Given the description of an element on the screen output the (x, y) to click on. 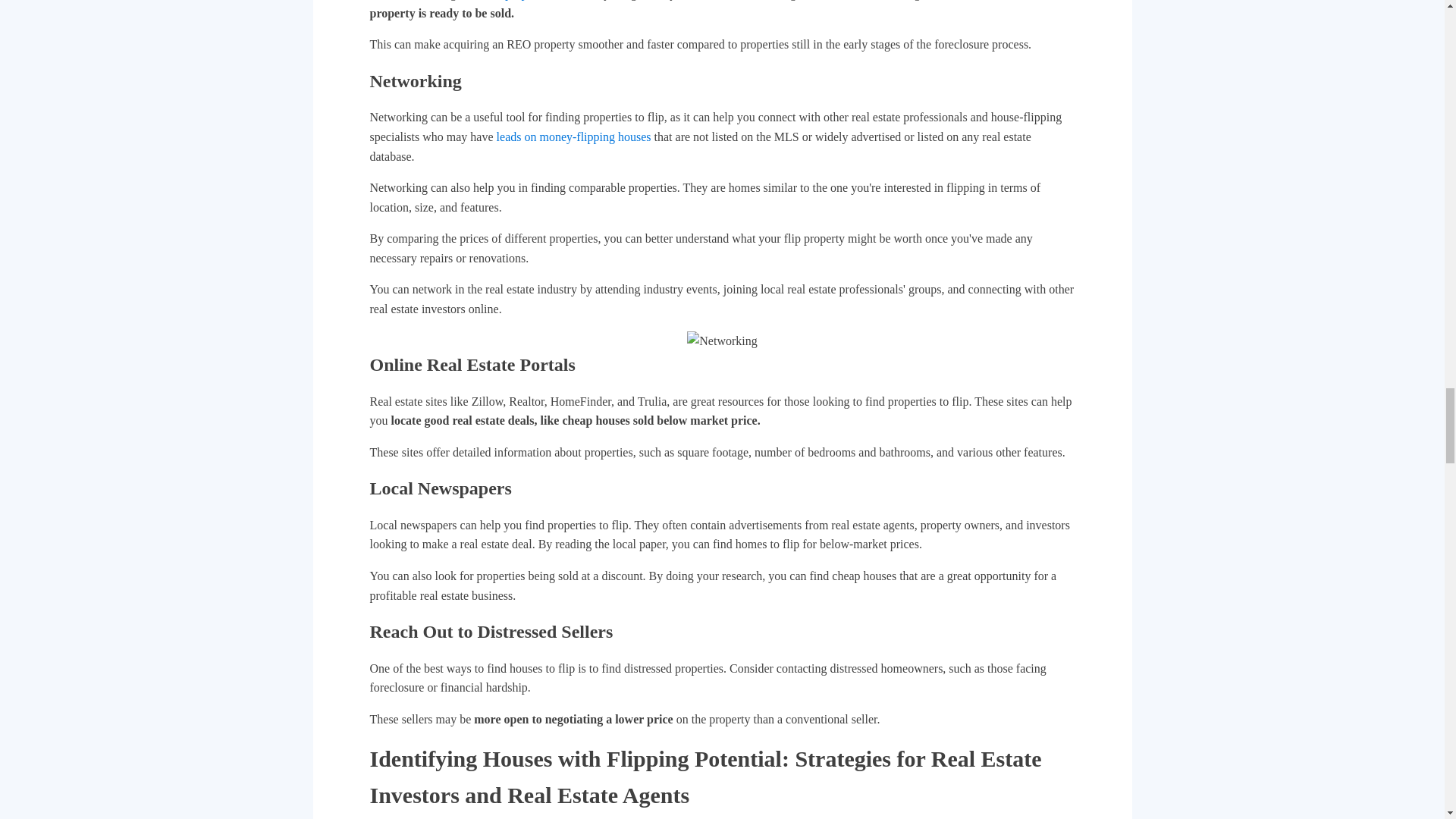
leads on money-flipping houses (573, 136)
